Given the description of an element on the screen output the (x, y) to click on. 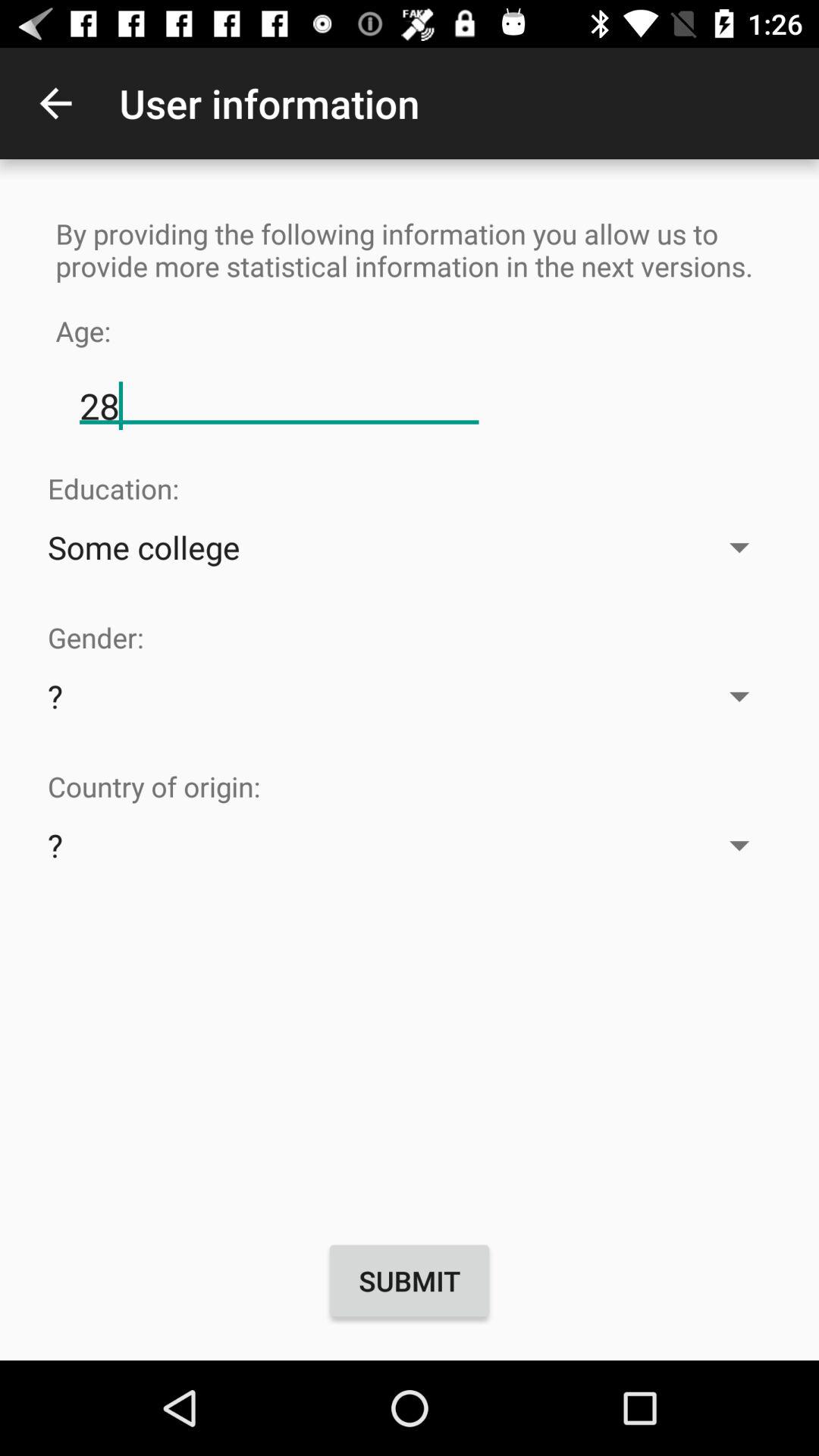
go to the text field below education (409, 546)
